Given the description of an element on the screen output the (x, y) to click on. 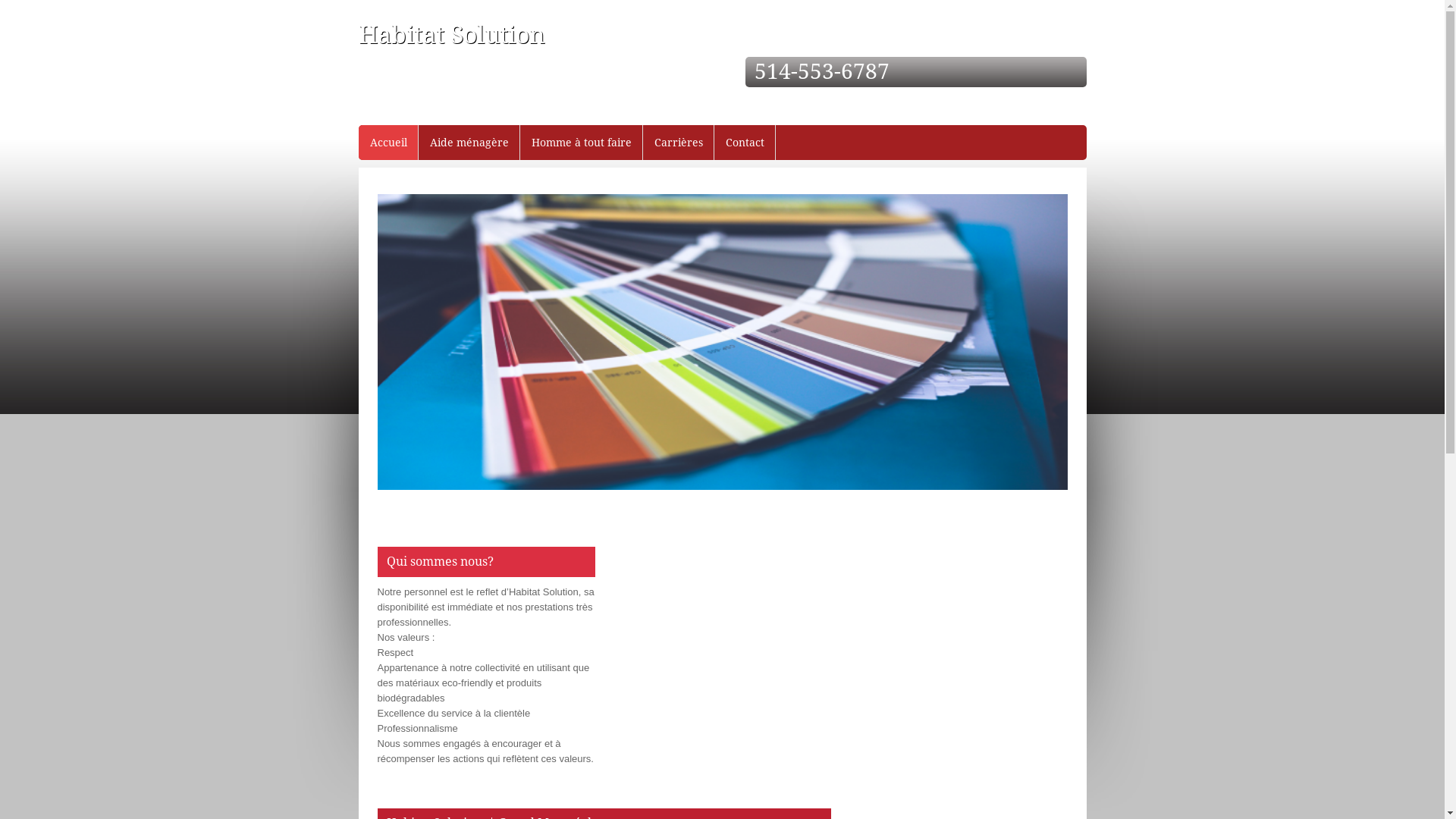
Contact Element type: text (744, 142)
Habitat Solution Element type: text (450, 34)
